Given the description of an element on the screen output the (x, y) to click on. 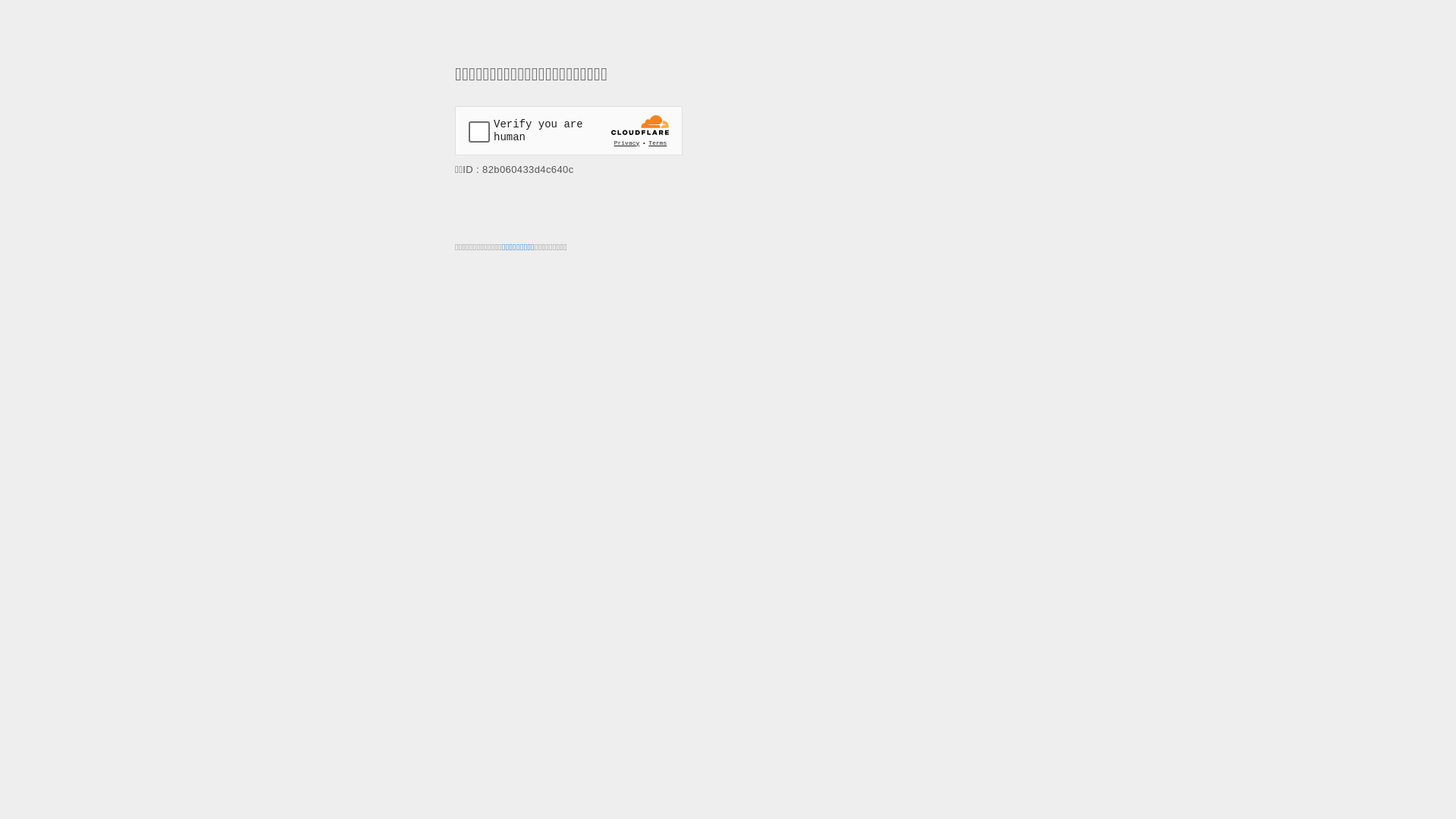
Widget containing a Cloudflare security challenge Element type: hover (568, 130)
